Given the description of an element on the screen output the (x, y) to click on. 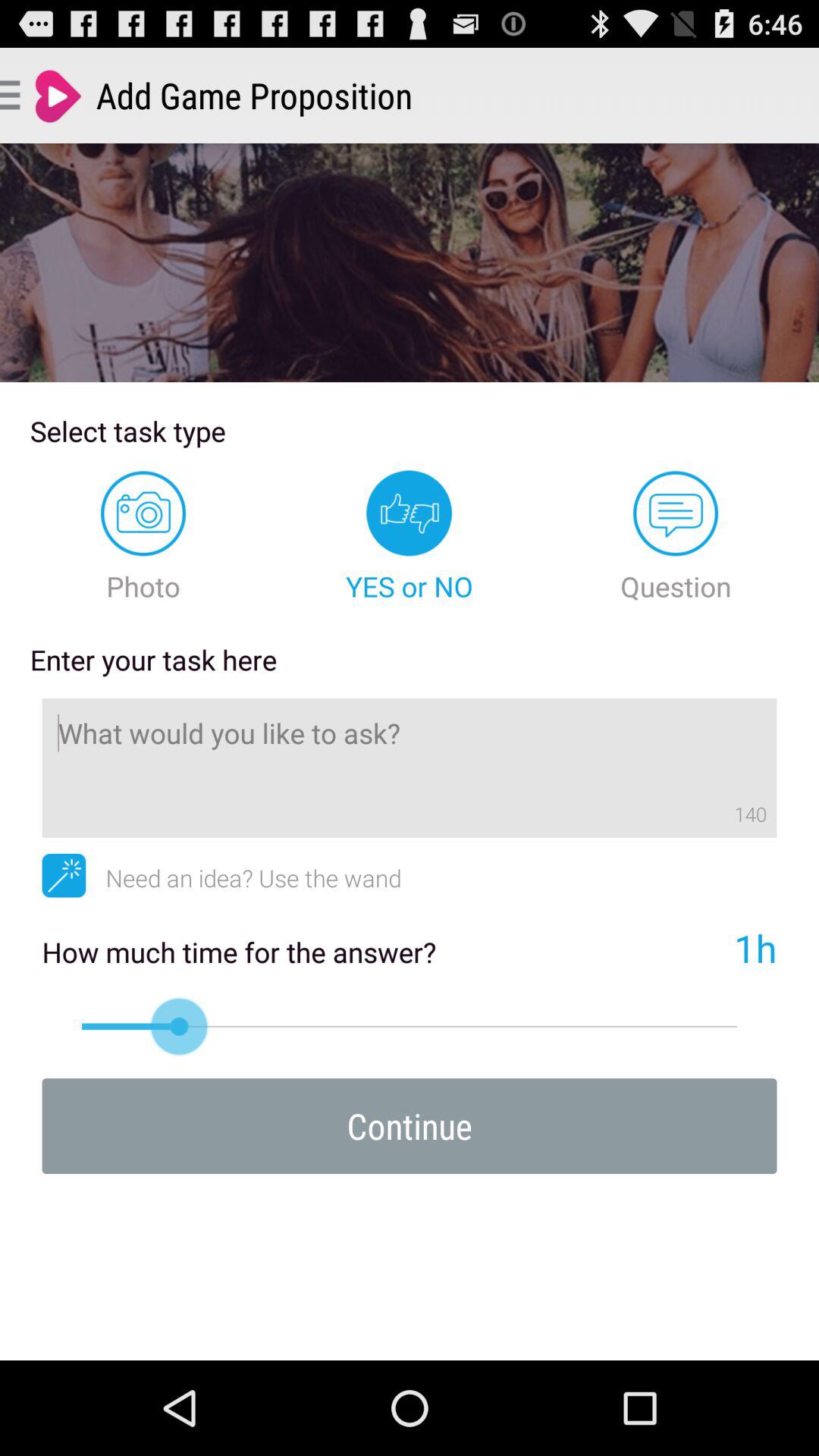
launch the item next to the need an idea item (63, 875)
